Given the description of an element on the screen output the (x, y) to click on. 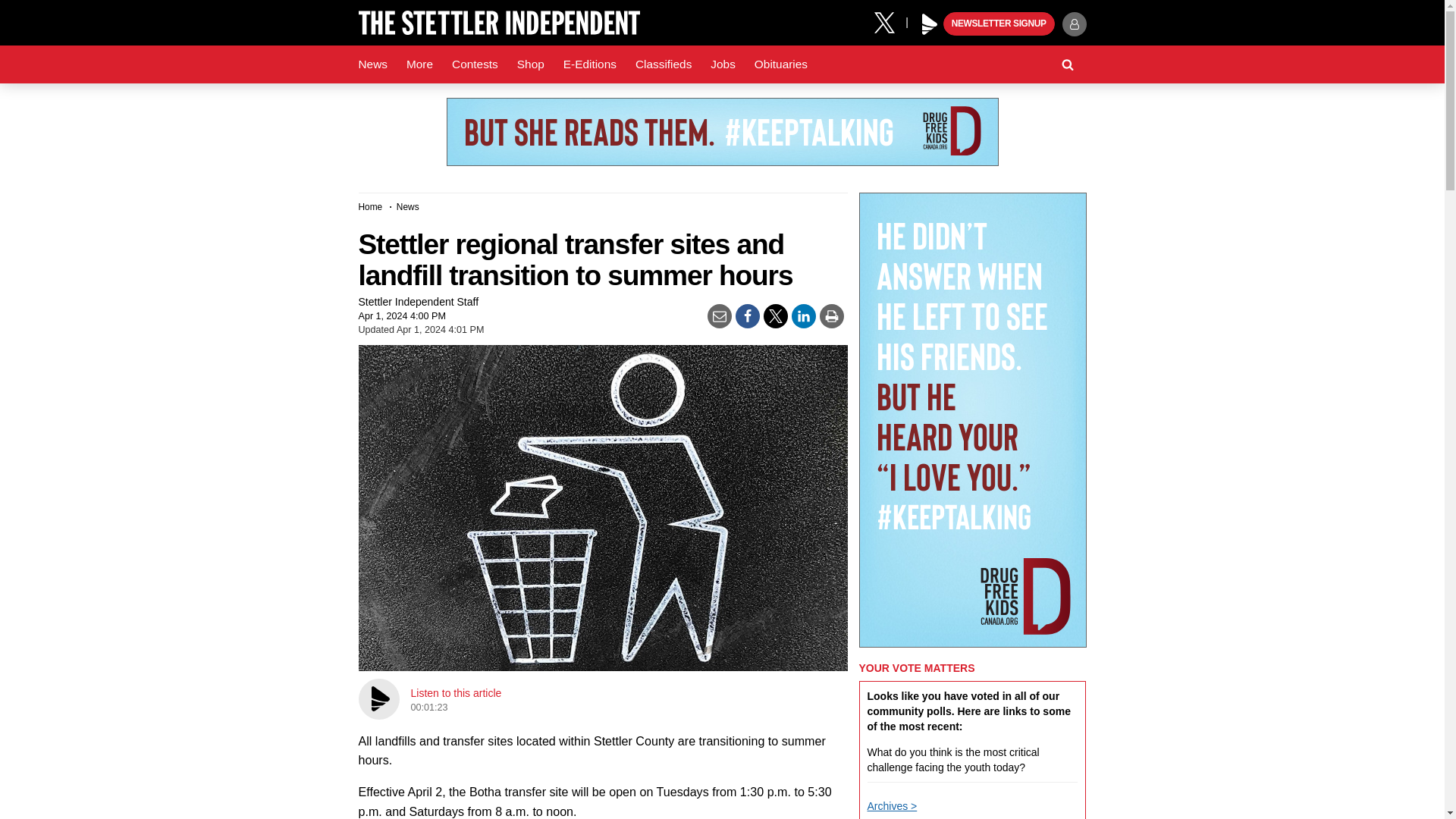
News (372, 64)
Black Press Media (929, 24)
NEWSLETTER SIGNUP (998, 24)
3rd party ad content (721, 131)
X (889, 21)
Play (929, 24)
